Given the description of an element on the screen output the (x, y) to click on. 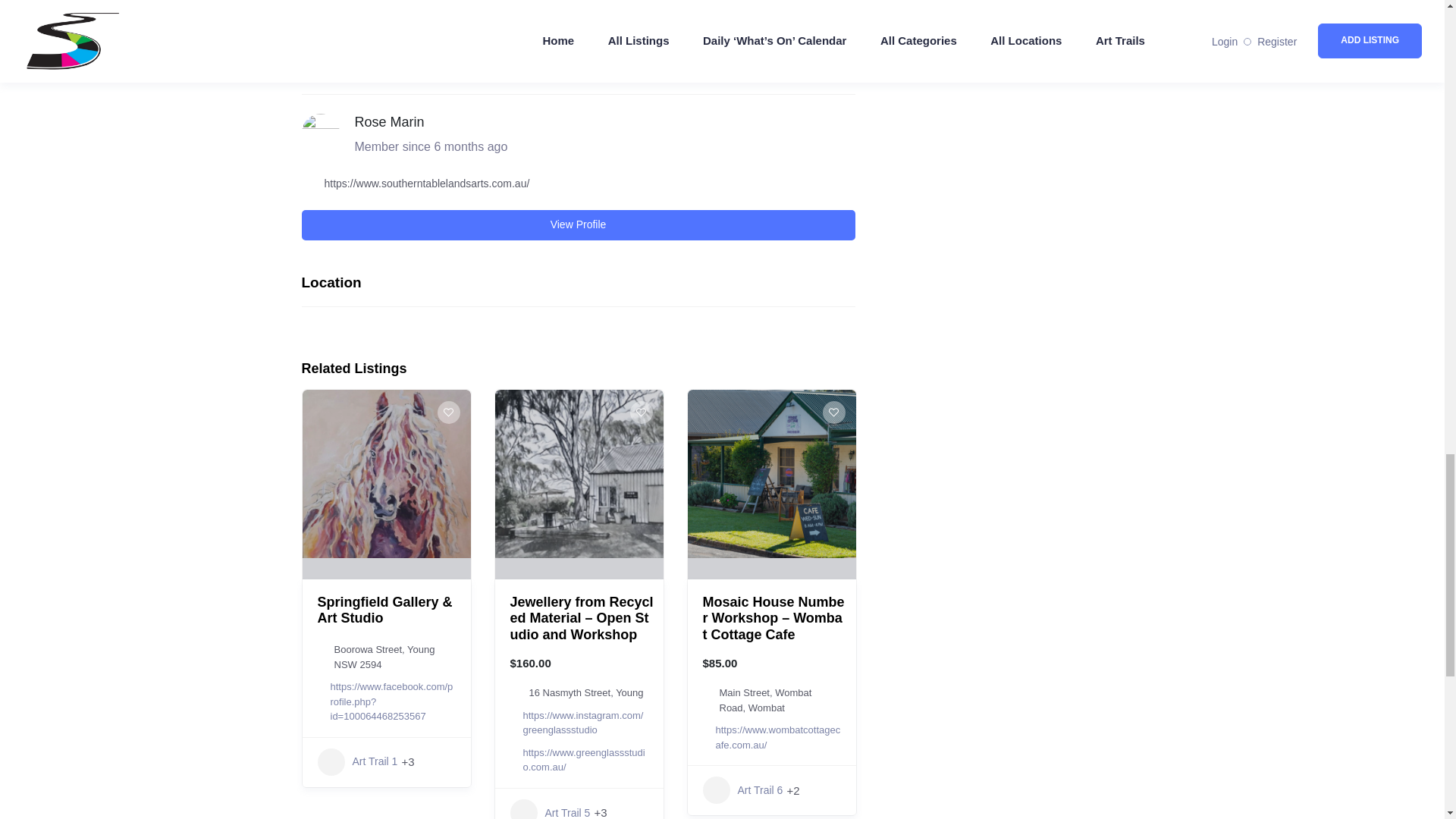
View Profile (578, 224)
